Given the description of an element on the screen output the (x, y) to click on. 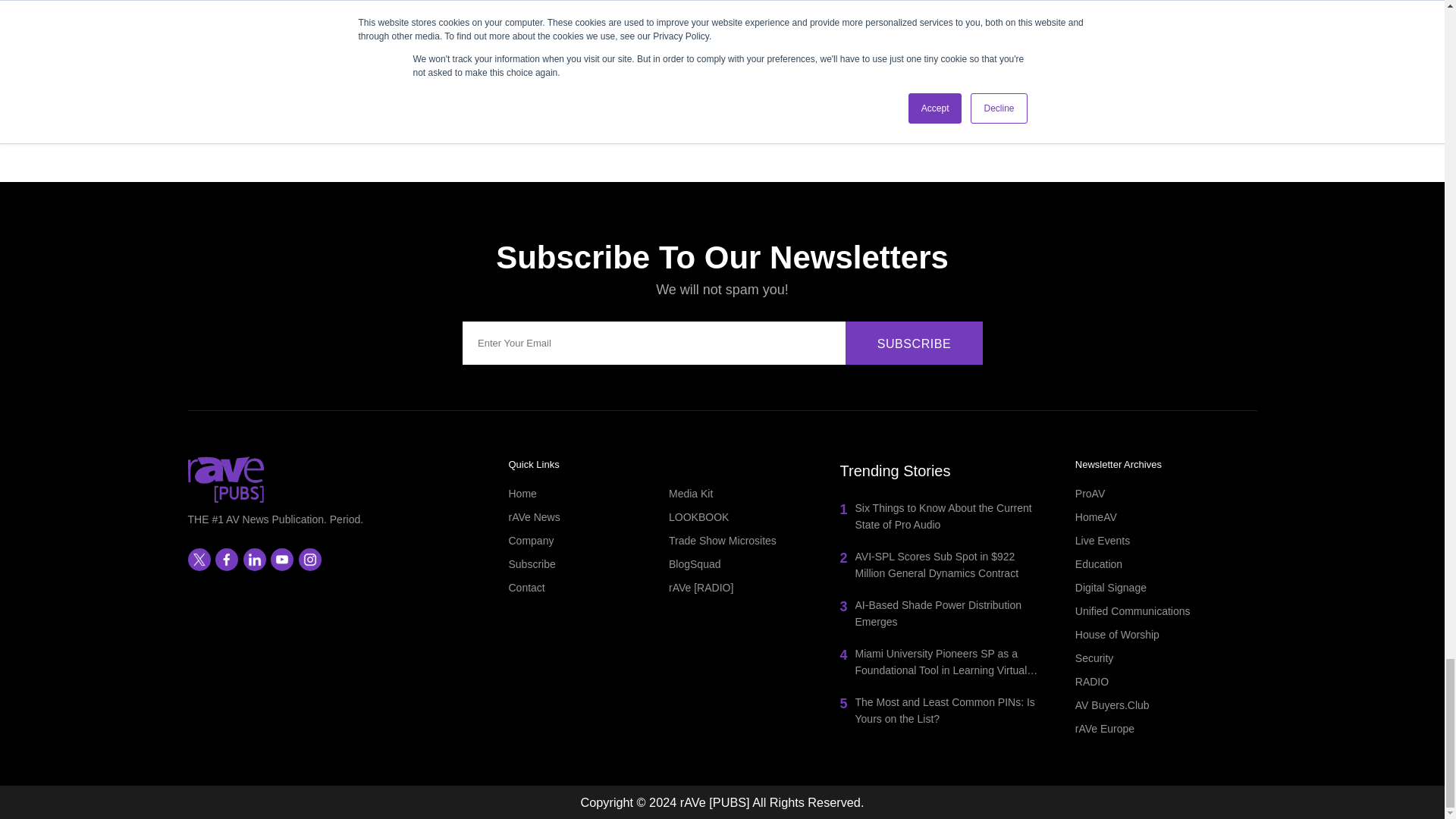
Subscribe (913, 342)
